Given the description of an element on the screen output the (x, y) to click on. 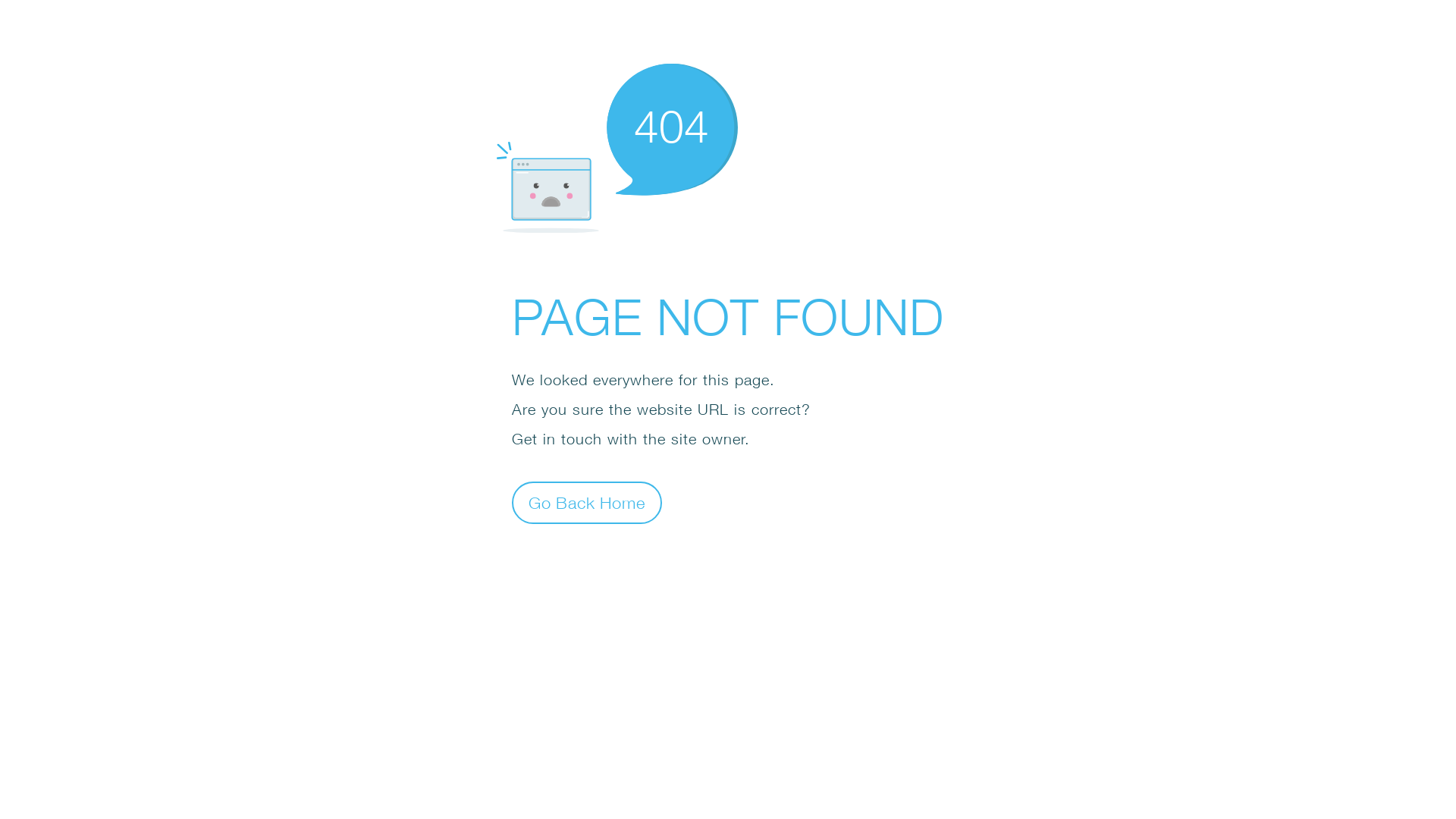
Go Back Home Element type: text (586, 502)
